Given the description of an element on the screen output the (x, y) to click on. 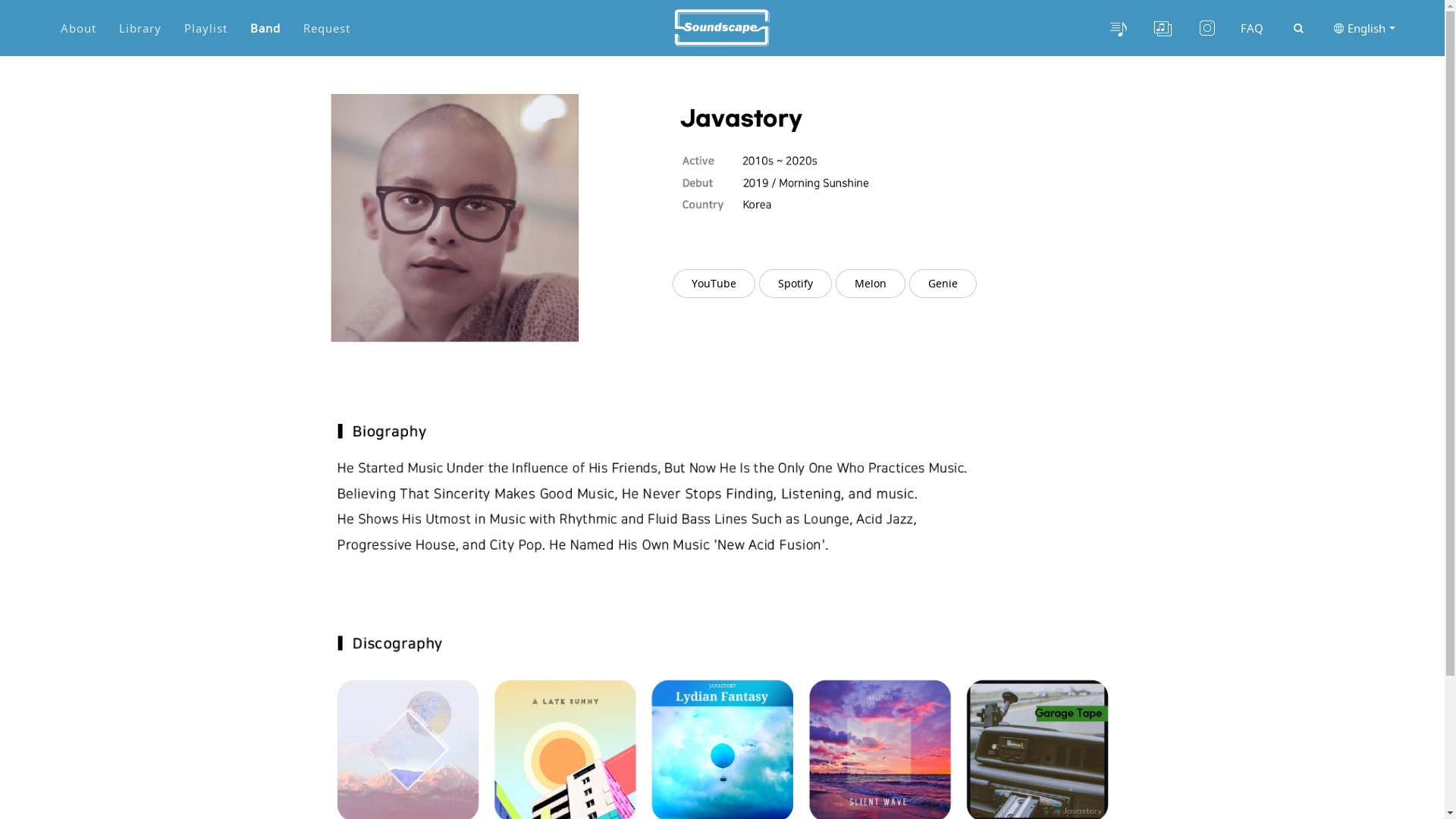
Library Element type: text (139, 27)
Site logo Element type: text (721, 26)
English Element type: text (1364, 27)
Melon Element type: text (870, 283)
site search Element type: text (1298, 28)
Band Element type: text (264, 27)
About Element type: text (78, 27)
Request Element type: text (326, 27)
Genie Element type: text (942, 283)
YouTube Element type: text (713, 283)
Spotify Element type: text (795, 283)
FAQ Element type: text (1251, 27)
Playlist Element type: text (205, 27)
